Given the description of an element on the screen output the (x, y) to click on. 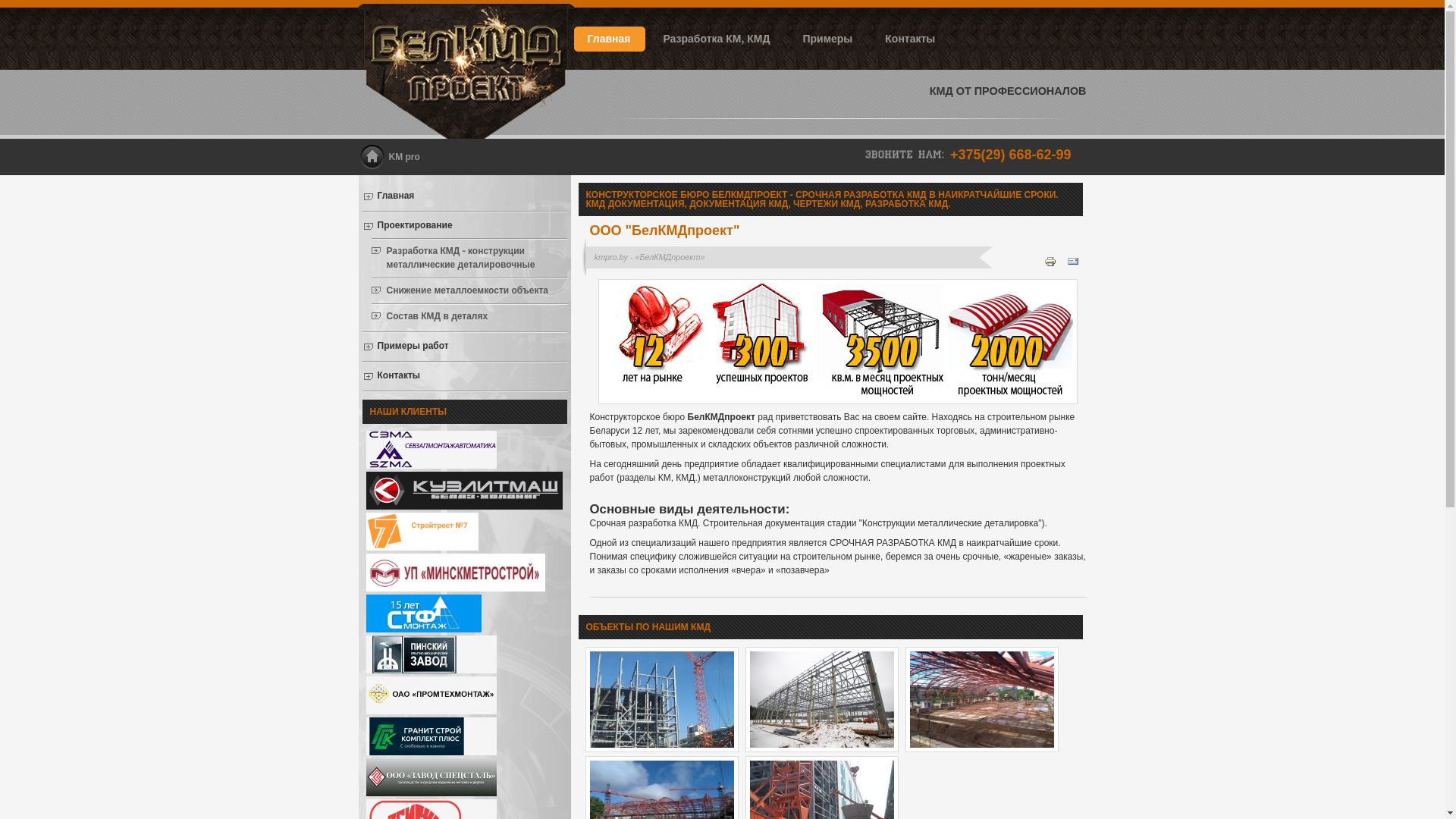
Print Element type: hover (1053, 264)
Email Element type: hover (1075, 264)
